Given the description of an element on the screen output the (x, y) to click on. 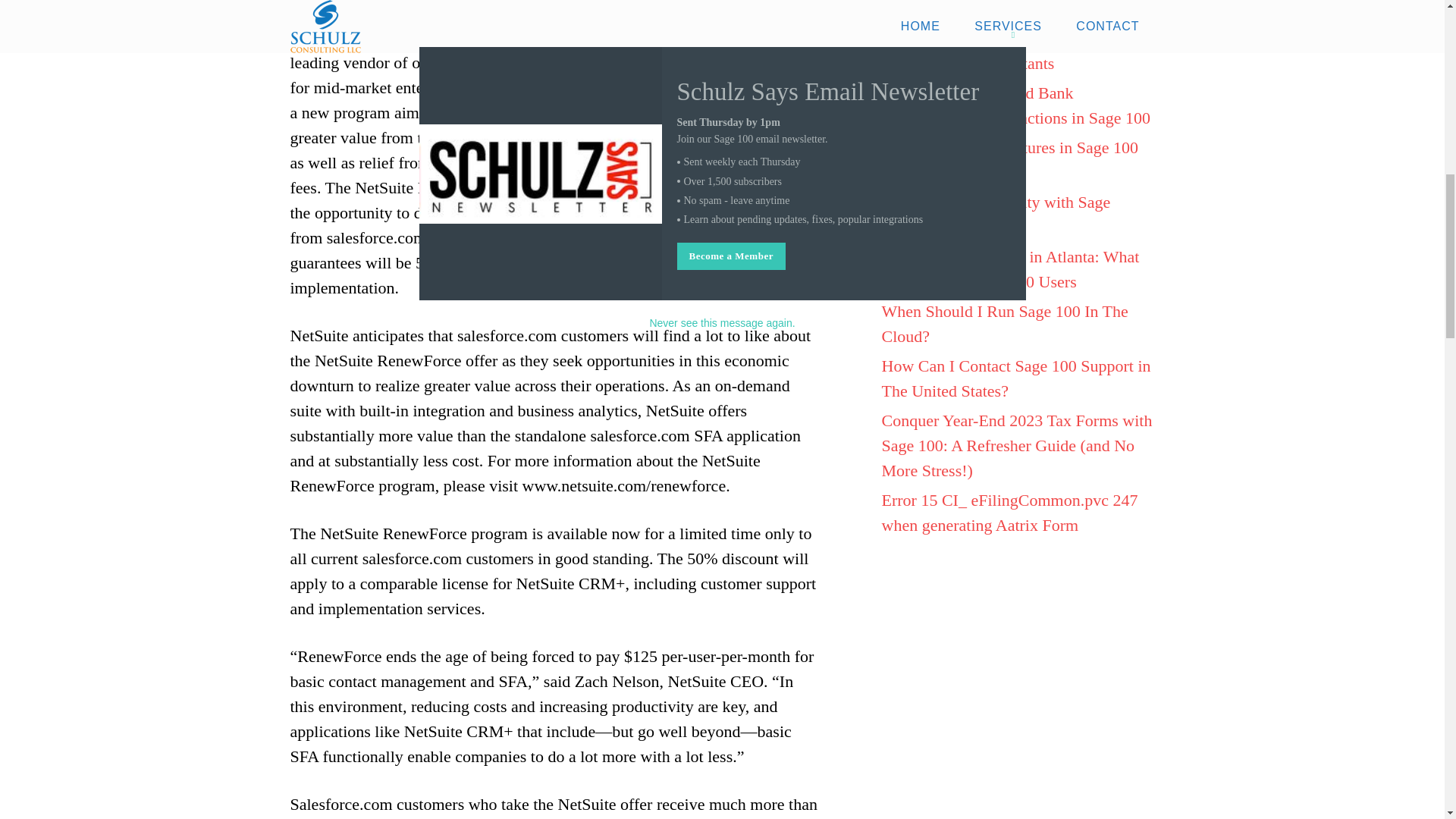
10 Exciting New Features in Sage 100 2024 (1009, 159)
When Should I Run Sage 100 In The Cloud? (1003, 323)
Sage 100 Compatibility with Sage Exchange Desktop (994, 214)
How Can I Contact Sage 100 Support in The United States? (1015, 378)
